Given the description of an element on the screen output the (x, y) to click on. 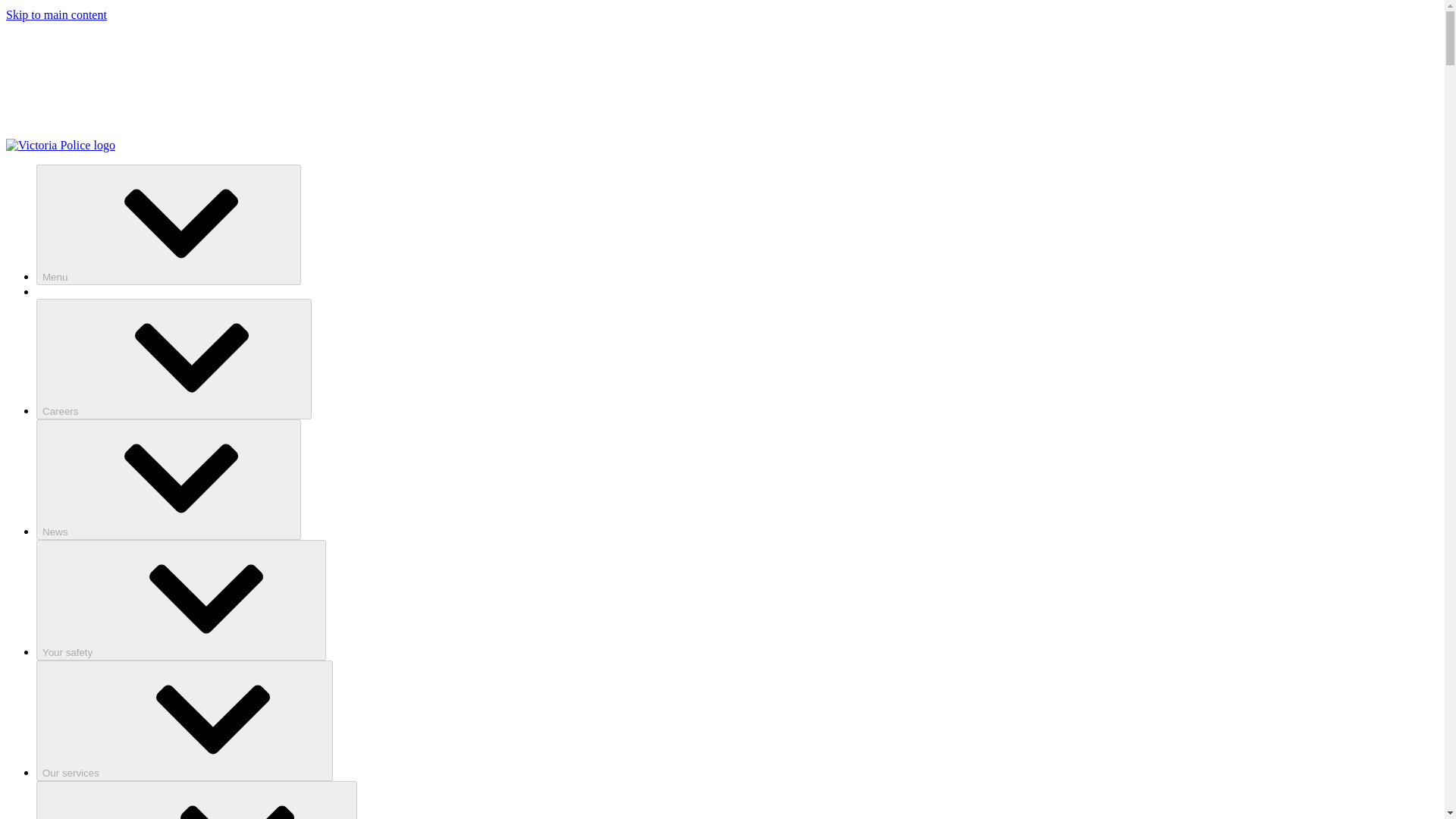
Skip to main content (55, 14)
